Given the description of an element on the screen output the (x, y) to click on. 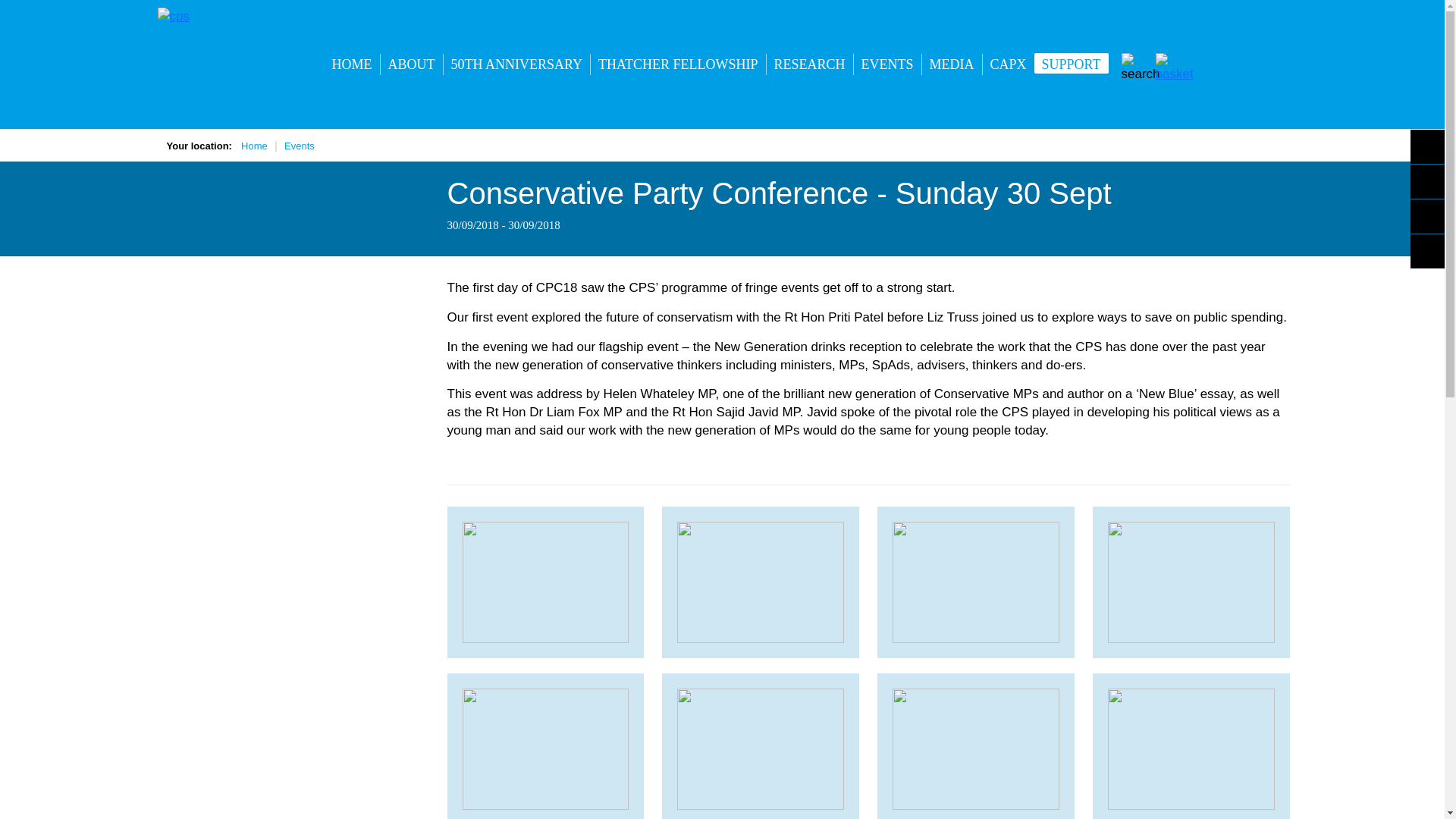
THATCHER FELLOWSHIP (678, 64)
CAPX (1007, 64)
Home (254, 145)
HOME (352, 64)
ABOUT (411, 64)
RESEARCH (810, 64)
MEDIA (951, 64)
EVENTS (887, 64)
50TH ANNIVERSARY (515, 64)
SUPPORT (1070, 63)
